Given the description of an element on the screen output the (x, y) to click on. 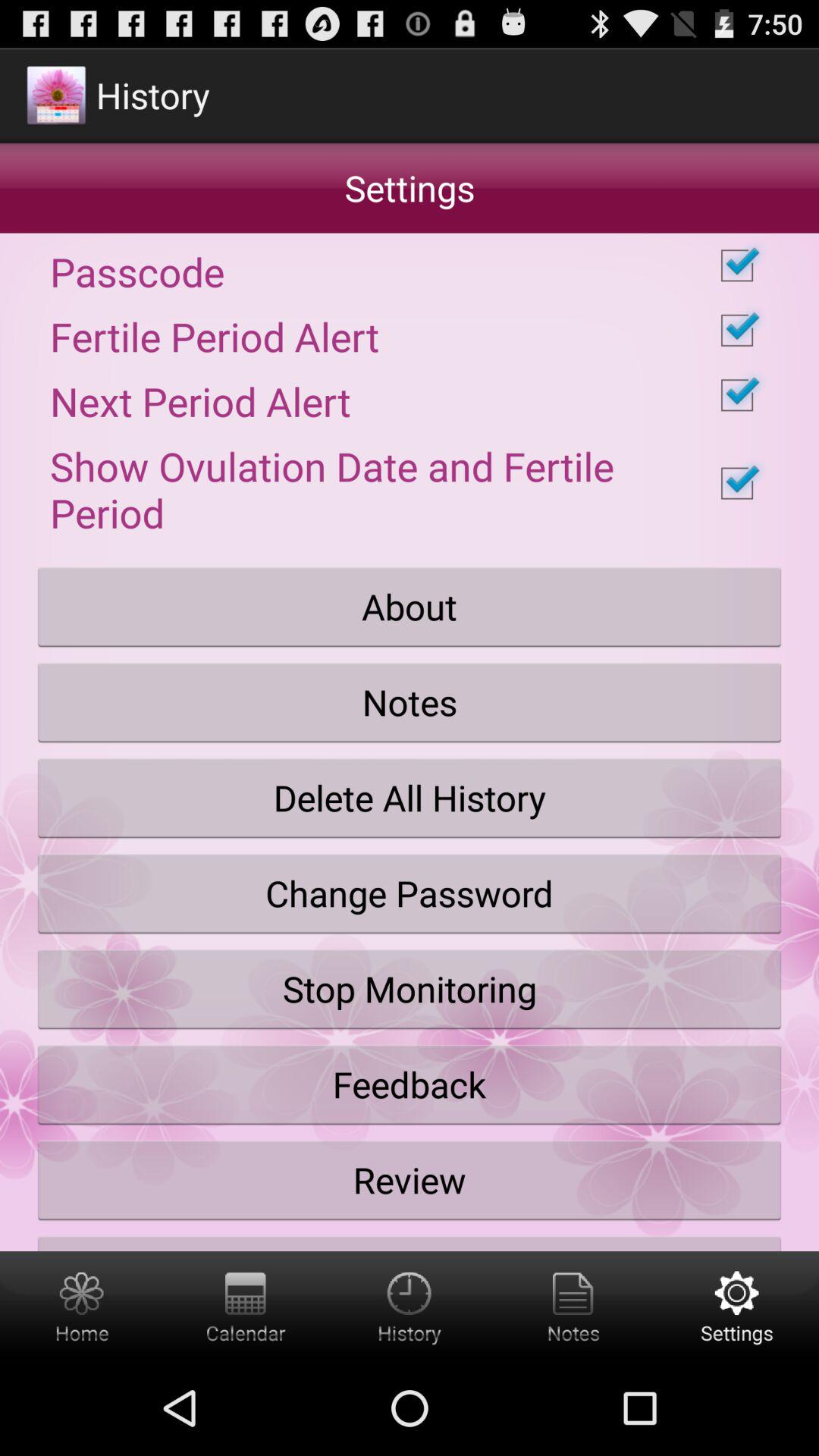
flip to passcode item (409, 265)
